Given the description of an element on the screen output the (x, y) to click on. 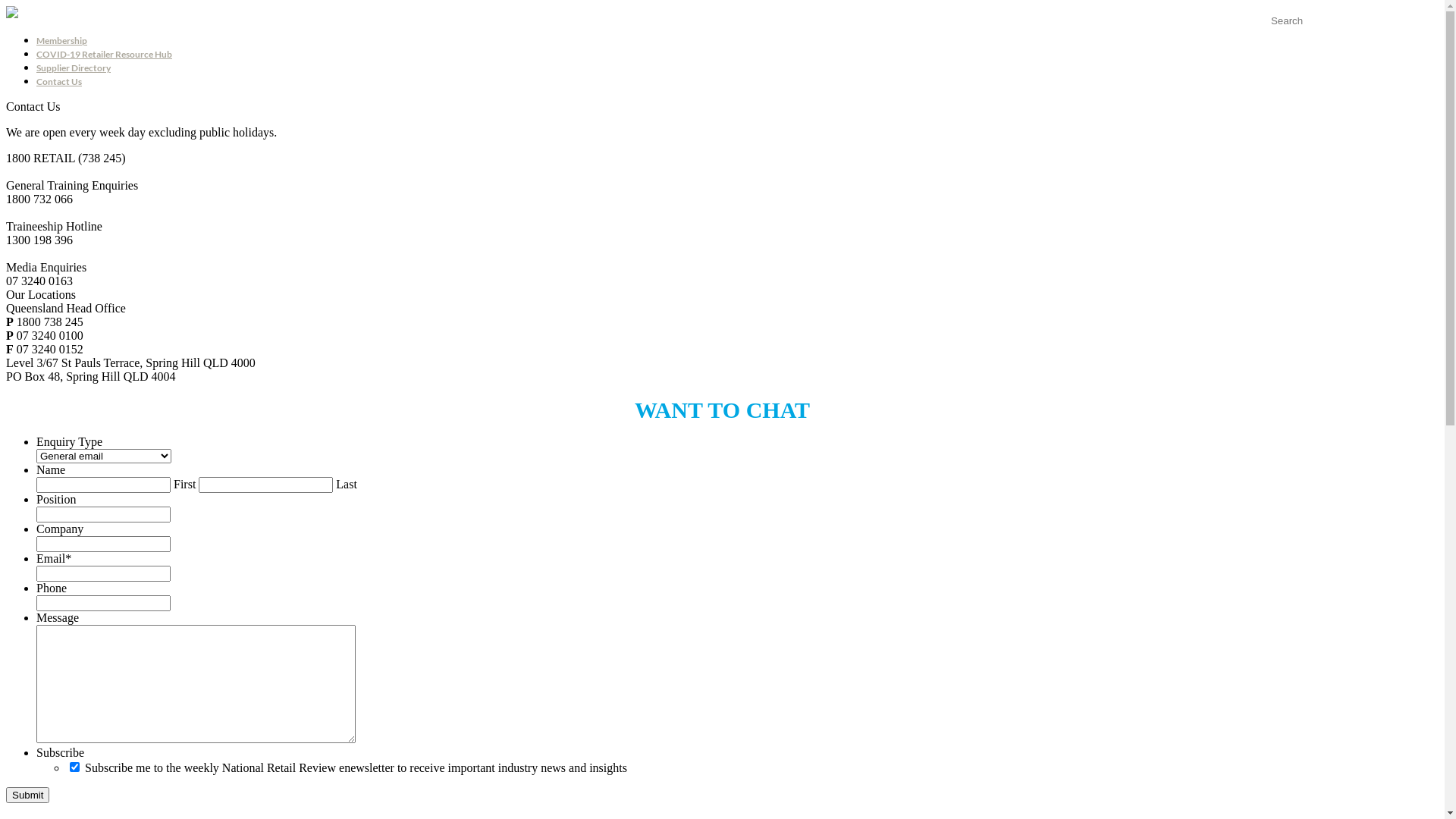
Supplier Directory Element type: text (73, 67)
Contact Us Element type: text (58, 81)
Submit Element type: text (27, 795)
Membership Element type: text (61, 40)
Member Resources Portal Login Element type: text (1346, 34)
COVID-19 Retailer Resource Hub Element type: text (104, 53)
